Given the description of an element on the screen output the (x, y) to click on. 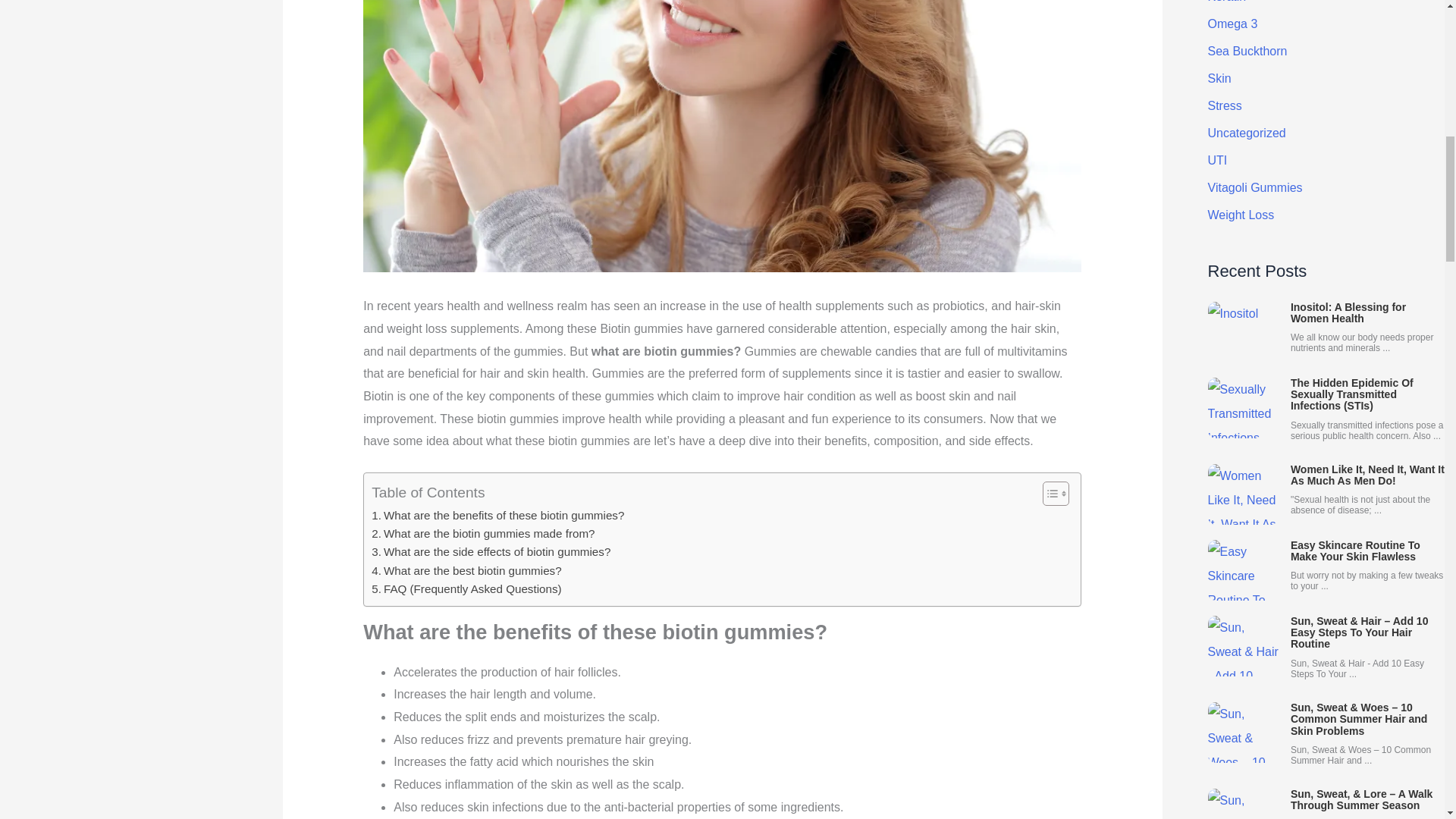
What are the biotin gummies made from? (482, 533)
What are the side effects of biotin gummies? (490, 551)
What are the best biotin gummies? (465, 570)
What are the benefits of these biotin gummies? (497, 515)
What are the side effects of biotin gummies? (490, 551)
What are the biotin gummies made from? (482, 533)
What are the best biotin gummies? (465, 570)
What are the benefits of these biotin gummies? (497, 515)
